Given the description of an element on the screen output the (x, y) to click on. 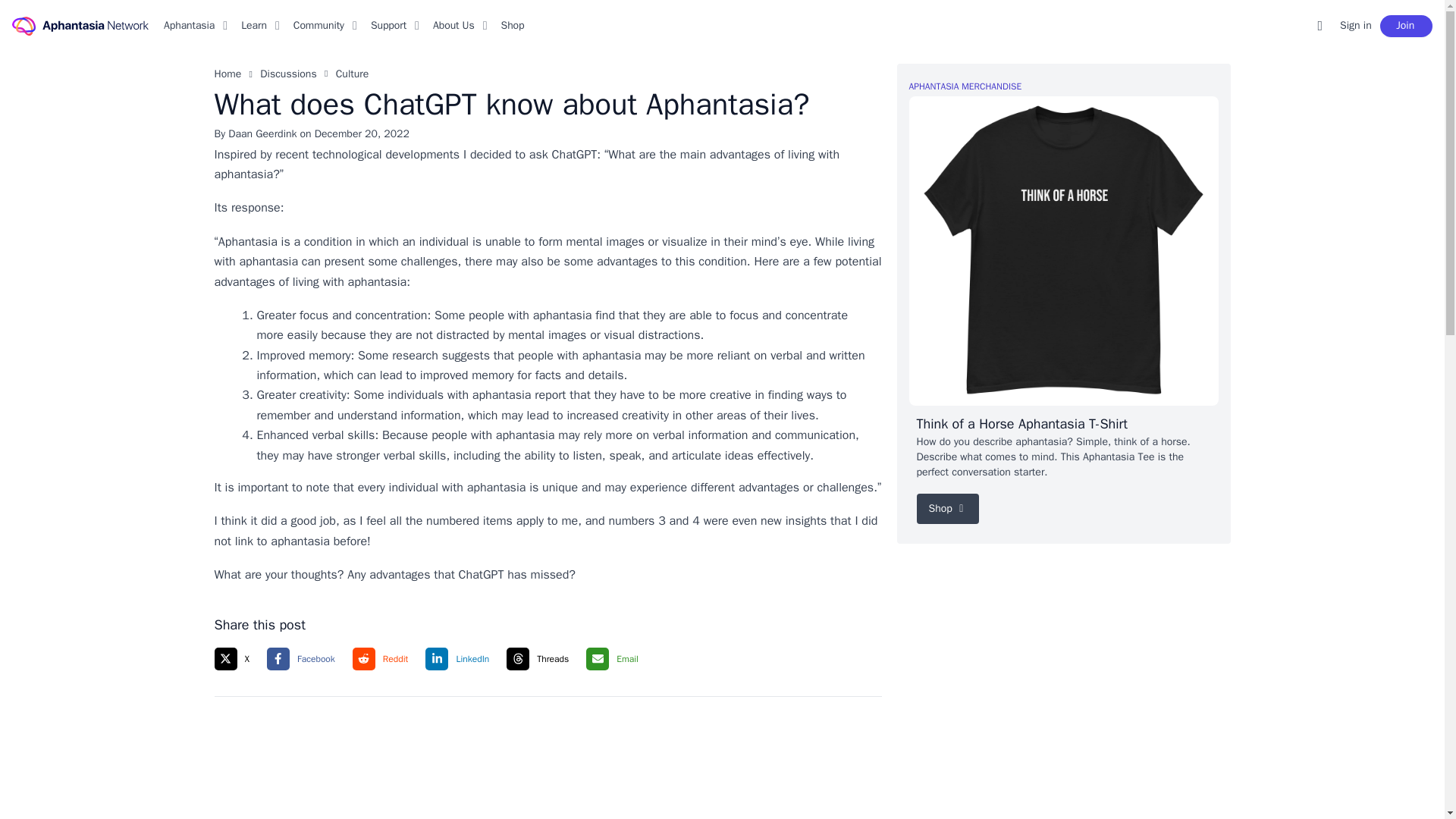
X (237, 658)
Sign in (1356, 25)
Community (318, 25)
By Daan Geerdink (255, 133)
Shop (512, 25)
Home (227, 73)
Facebook (306, 658)
Advertisement (563, 759)
Reddit (386, 658)
Support (388, 25)
